Given the description of an element on the screen output the (x, y) to click on. 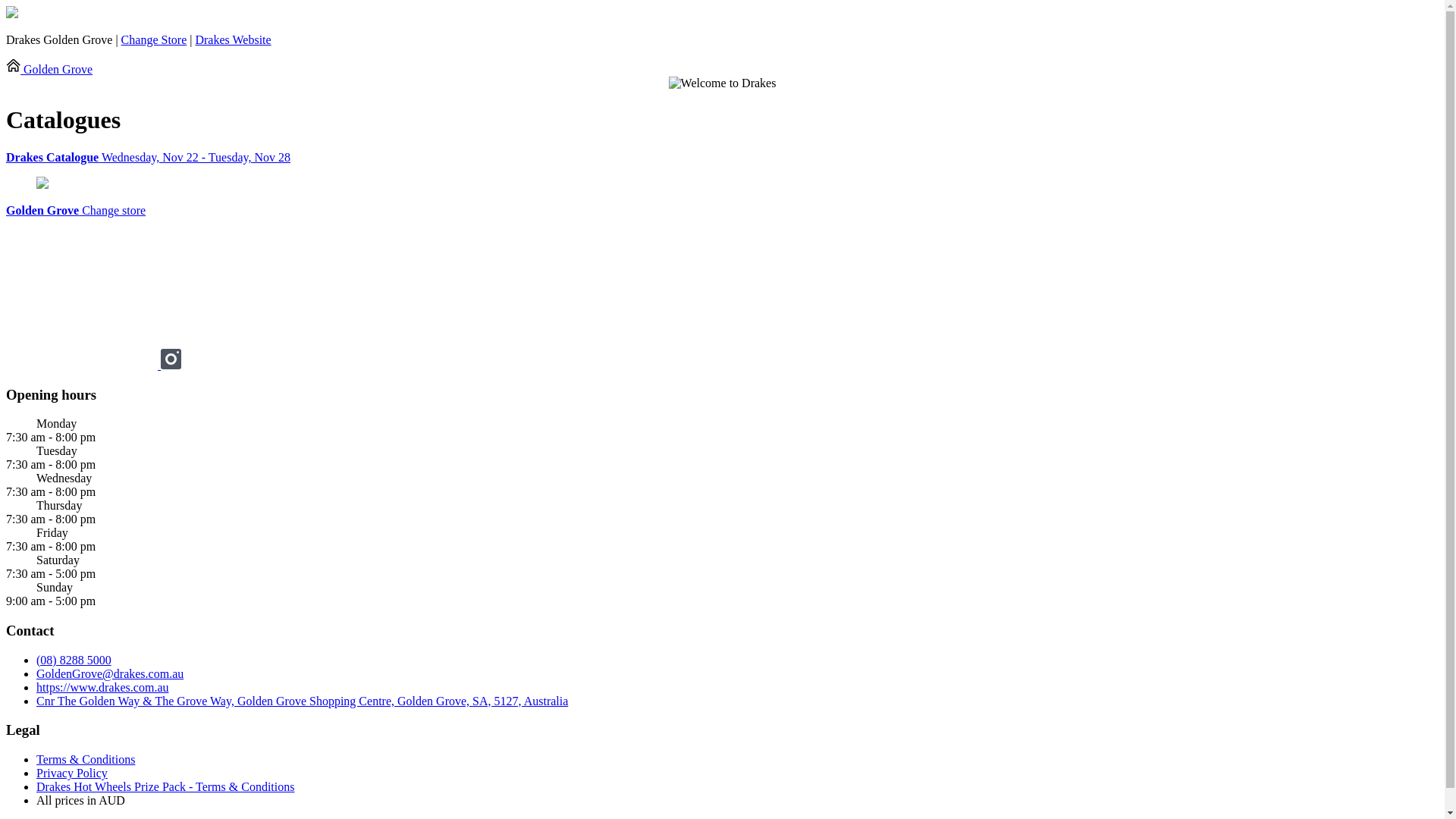
Instagram drakessupermarkets Element type: hover (170, 364)
Terms & Conditions Element type: text (85, 759)
https://www.drakes.com.au Element type: text (102, 686)
Privacy Policy Element type: text (71, 772)
(08) 8288 5000 Element type: text (73, 659)
Golden Grove Change store Element type: text (75, 209)
Drakes Hot Wheels Prize Pack - Terms & Conditions Element type: text (165, 786)
Change Store Element type: text (154, 39)
Facebook Element type: hover (83, 364)
Drakes Catalogue Wednesday, Nov 22 - Tuesday, Nov 28 Element type: text (722, 156)
Golden Grove Element type: text (49, 68)
Drakes Website Element type: text (232, 39)
GoldenGrove@drakes.com.au Element type: text (109, 673)
